Given the description of an element on the screen output the (x, y) to click on. 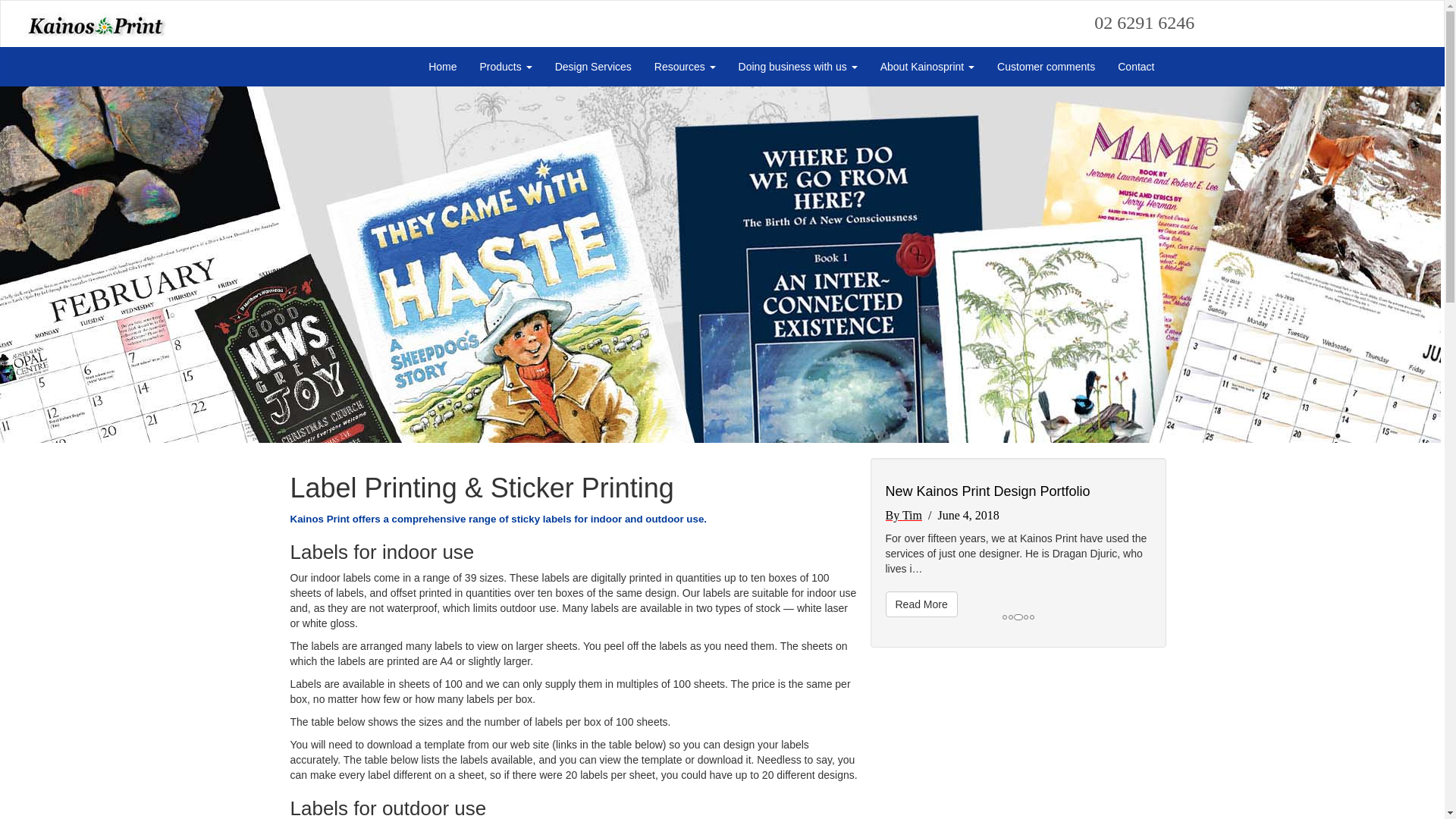
Kainos Print Home Page Element type: hover (83, 18)
Customer comments Element type: text (1045, 66)
Design Services Element type: text (593, 66)
About Kainosprint Element type: text (927, 66)
Resources Element type: text (685, 66)
Home Element type: text (442, 66)
Read More Element type: text (921, 604)
Confused by 'colour profiles' in PhotoShop? Element type: text (1017, 490)
Contact Element type: text (1135, 66)
Doing business with us Element type: text (798, 66)
Products Element type: text (505, 66)
